Given the description of an element on the screen output the (x, y) to click on. 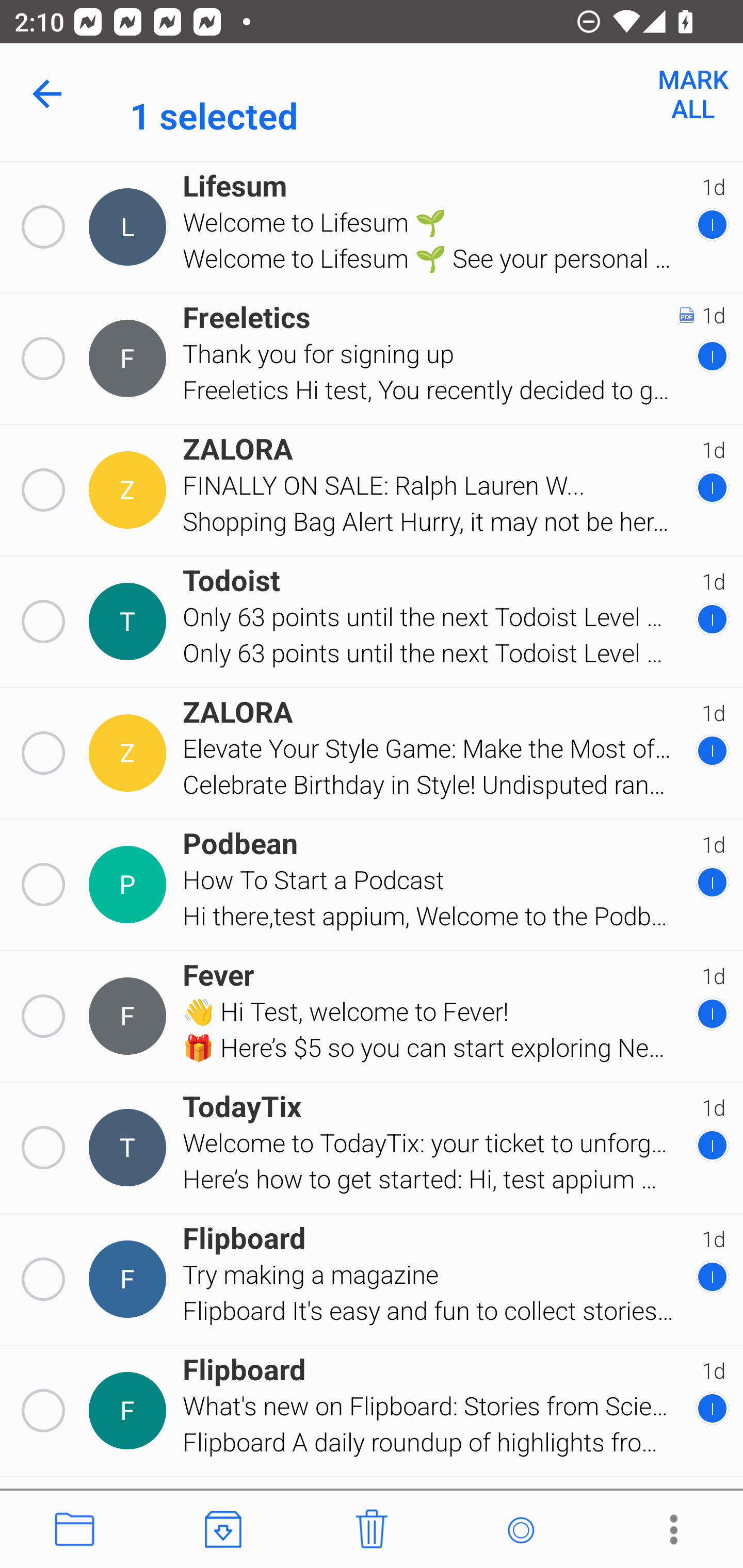
Done (50, 93)
MARK
ALL (692, 93)
Contact Details (129, 227)
Contact Details (129, 358)
Contact Details (129, 489)
Contact Details (129, 621)
Contact Details (129, 753)
Contact Details (129, 885)
Contact Details (129, 1016)
Contact Details (129, 1147)
Contact Details (129, 1279)
Contact Details (129, 1410)
Move (74, 1529)
Archive (222, 1529)
Delete (371, 1529)
Mark as Read (520, 1529)
More Options (668, 1529)
